Given the description of an element on the screen output the (x, y) to click on. 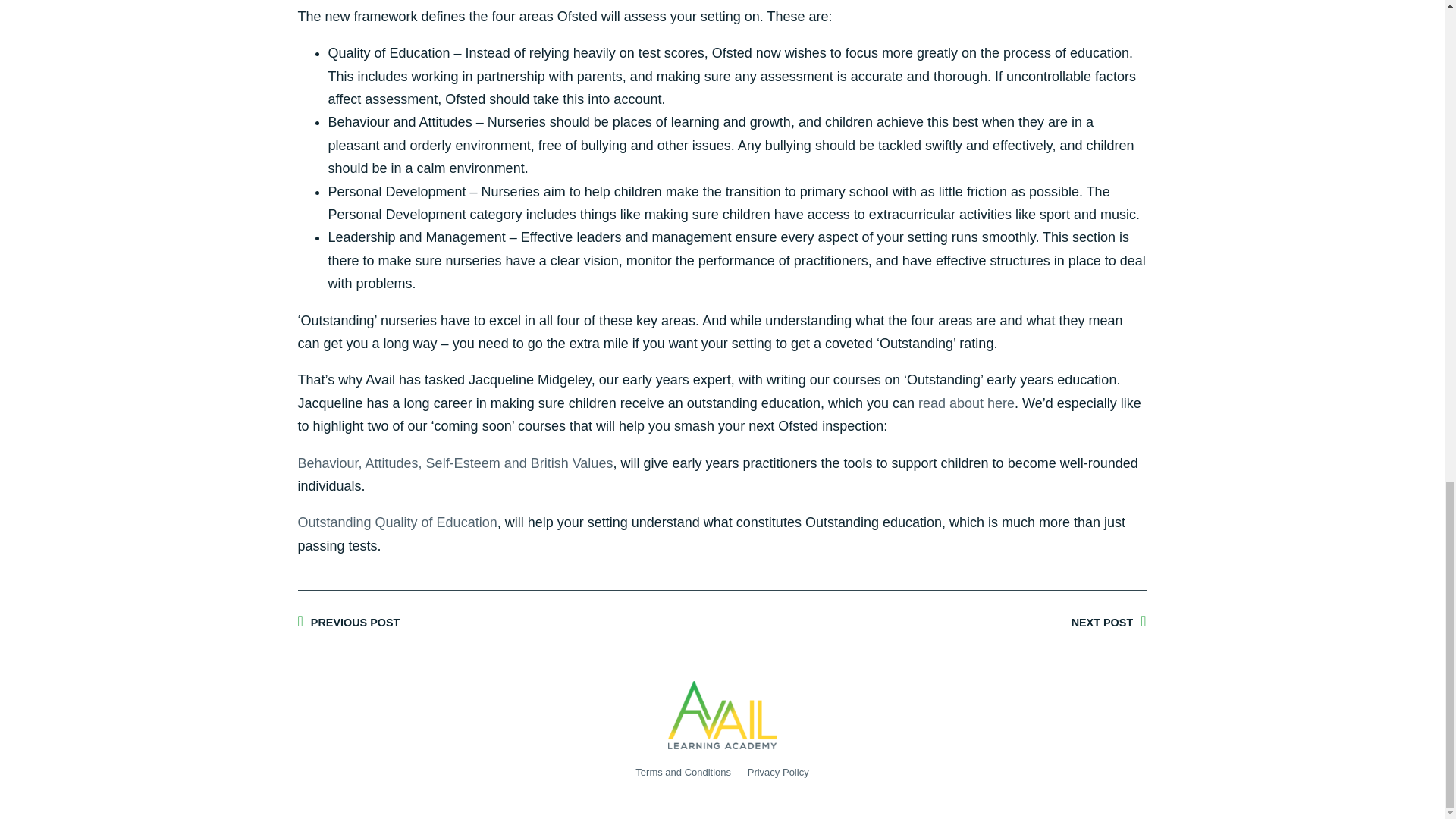
NEXT POST (934, 622)
Outstanding Quality of Education (396, 522)
Terms and Conditions (682, 772)
PREVIOUS POST (509, 622)
Privacy Policy (778, 772)
Behaviour, Attitudes, Self-Esteem and British Values (454, 462)
read about here (966, 403)
